Given the description of an element on the screen output the (x, y) to click on. 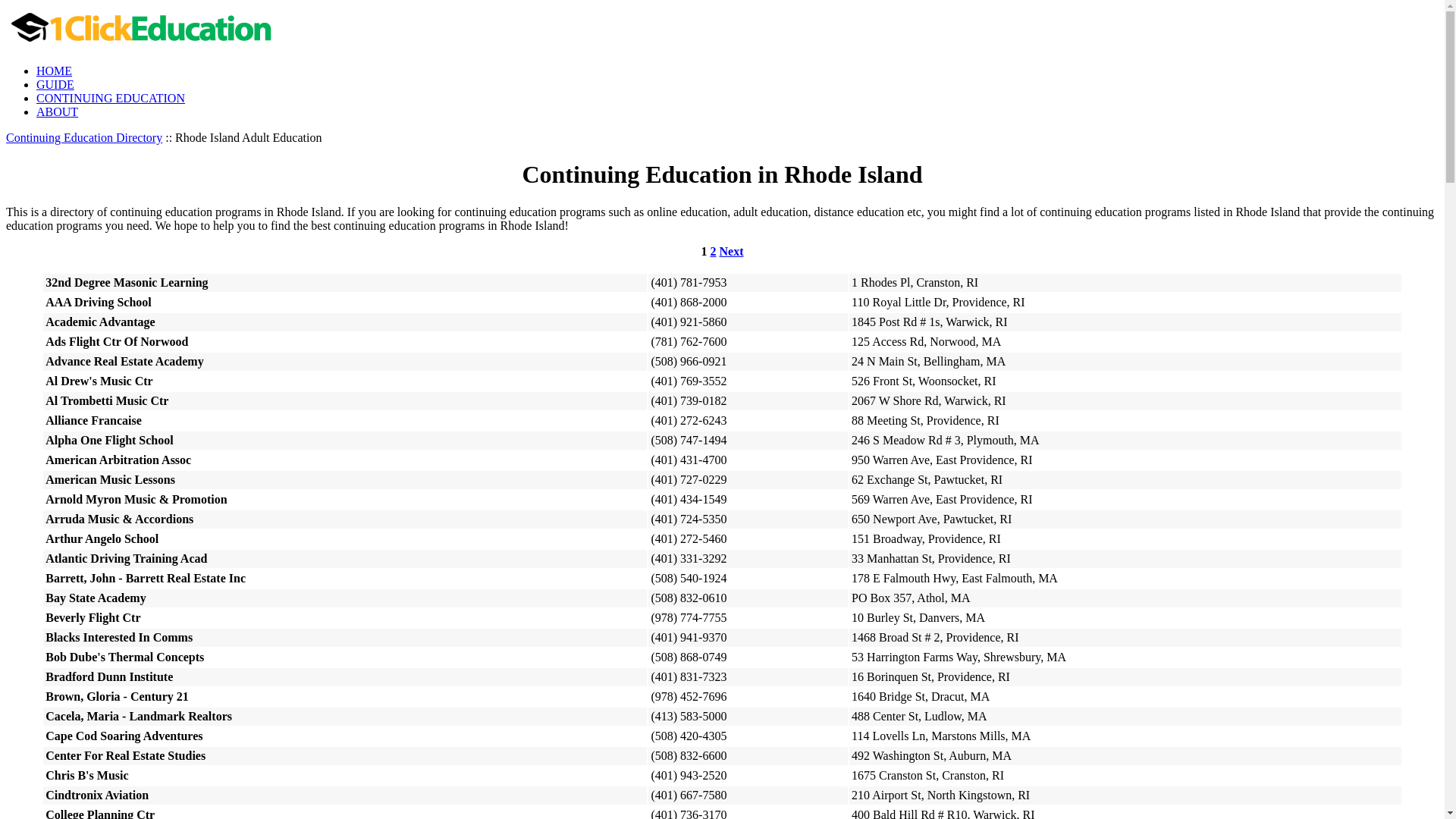
Continuing Education Directory Element type: text (84, 137)
ABOUT Element type: text (57, 111)
CONTINUING EDUCATION Element type: text (110, 97)
Next Element type: text (730, 250)
HOME Element type: text (54, 70)
2 Element type: text (712, 250)
GUIDE Element type: text (55, 84)
